Given the description of an element on the screen output the (x, y) to click on. 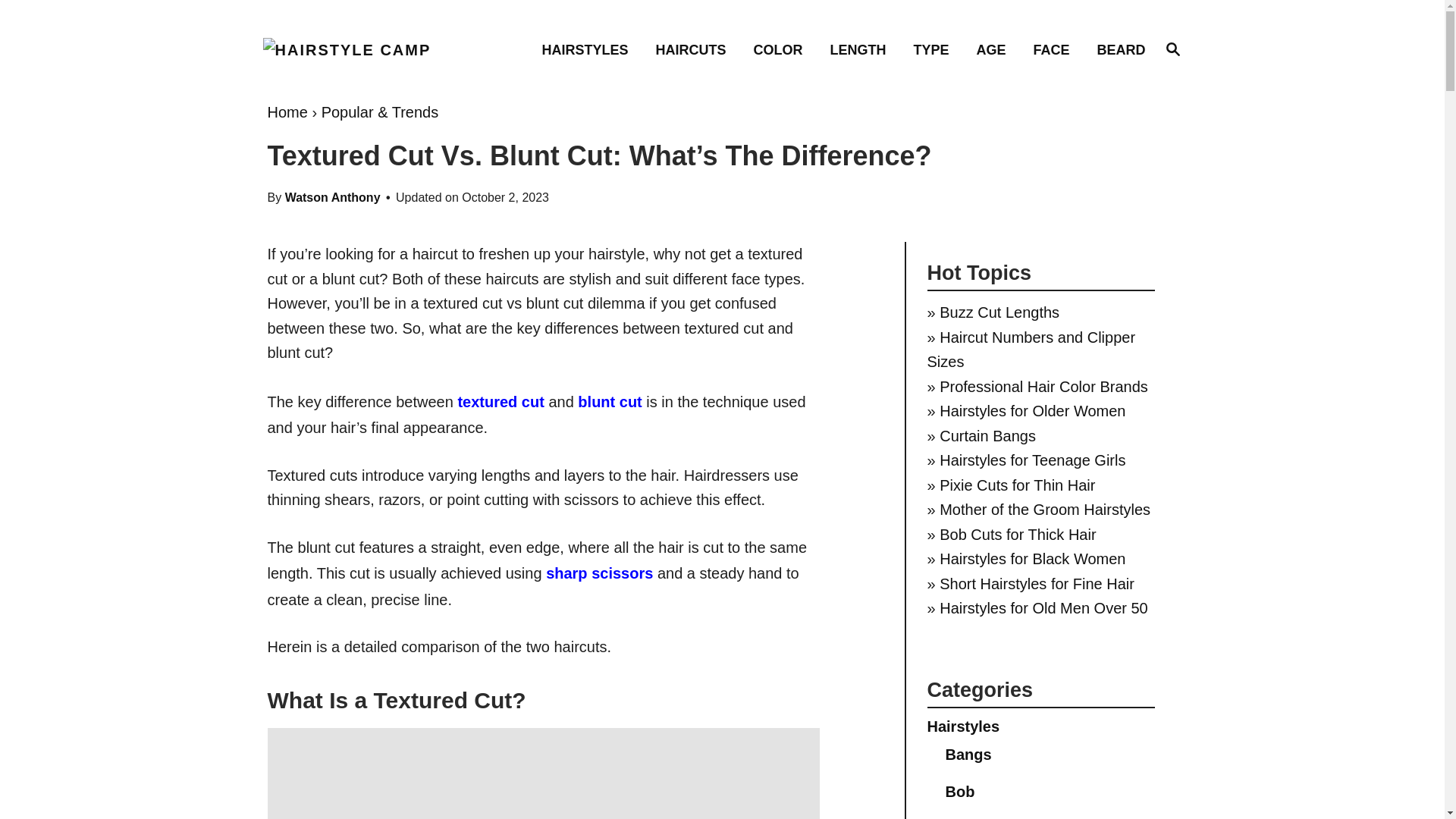
COLOR (782, 49)
Hairstyle Camp (371, 50)
HAIRSTYLES (1171, 49)
HAIRCUTS (589, 49)
Magnifying Glass (695, 49)
